Given the description of an element on the screen output the (x, y) to click on. 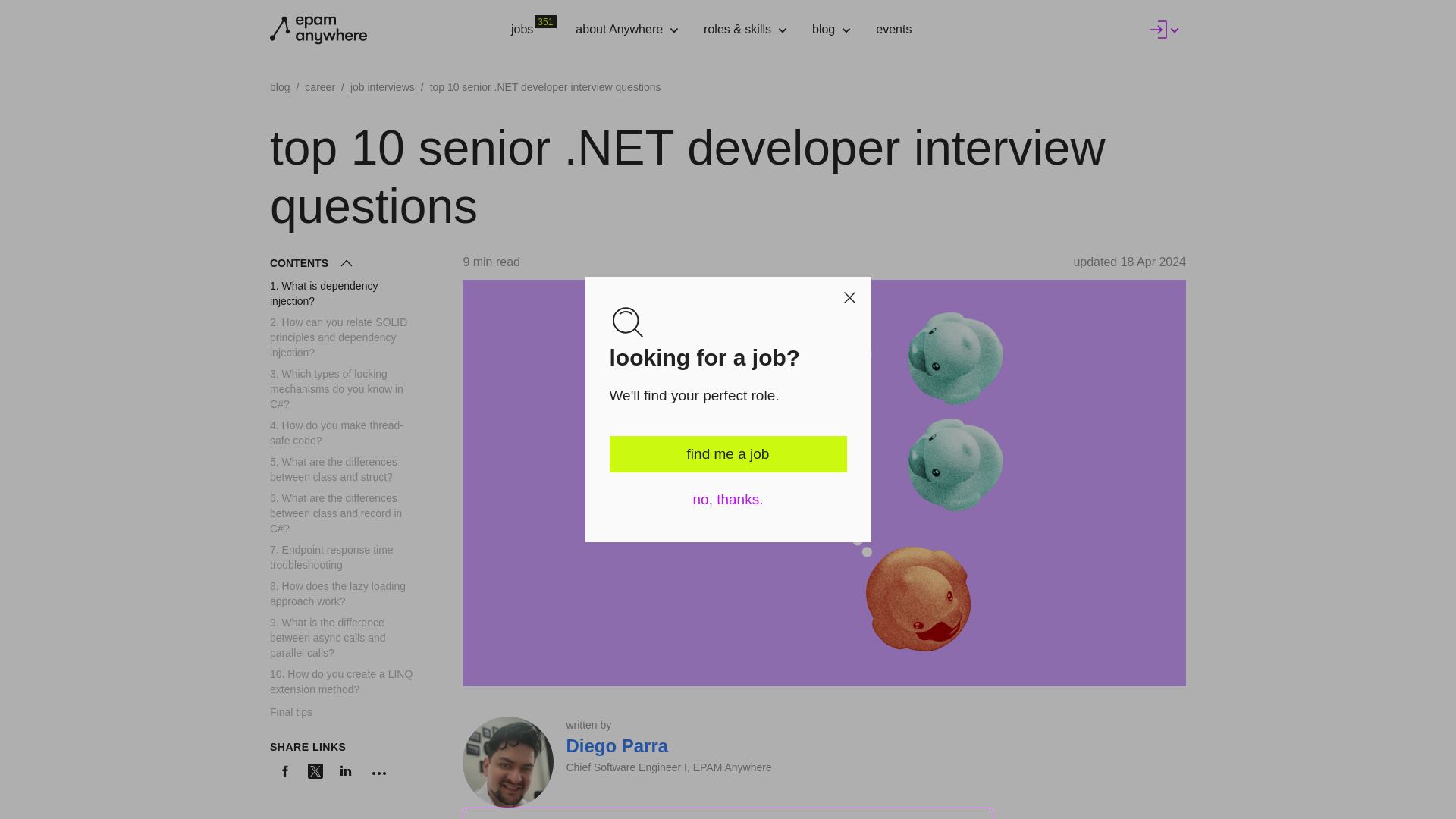
about Anywhere (537, 30)
events (627, 30)
